Given the description of an element on the screen output the (x, y) to click on. 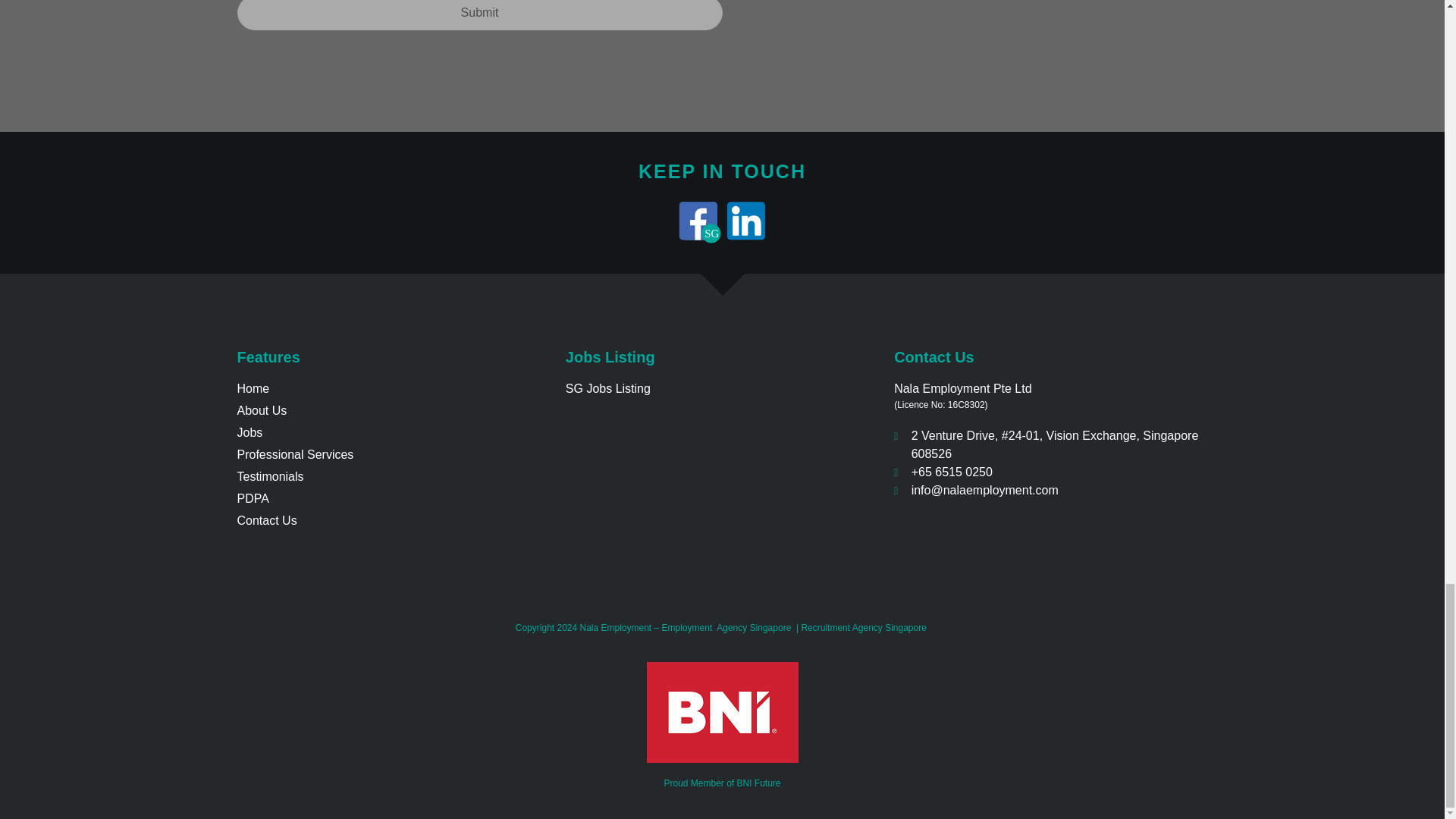
Home (392, 389)
PDPA (392, 498)
SG (697, 220)
Submit (478, 15)
Testimonials (392, 476)
SG Jobs Listing (722, 389)
Professional Services (392, 454)
About Us (392, 411)
Jobs (392, 433)
SG (697, 220)
